Given the description of an element on the screen output the (x, y) to click on. 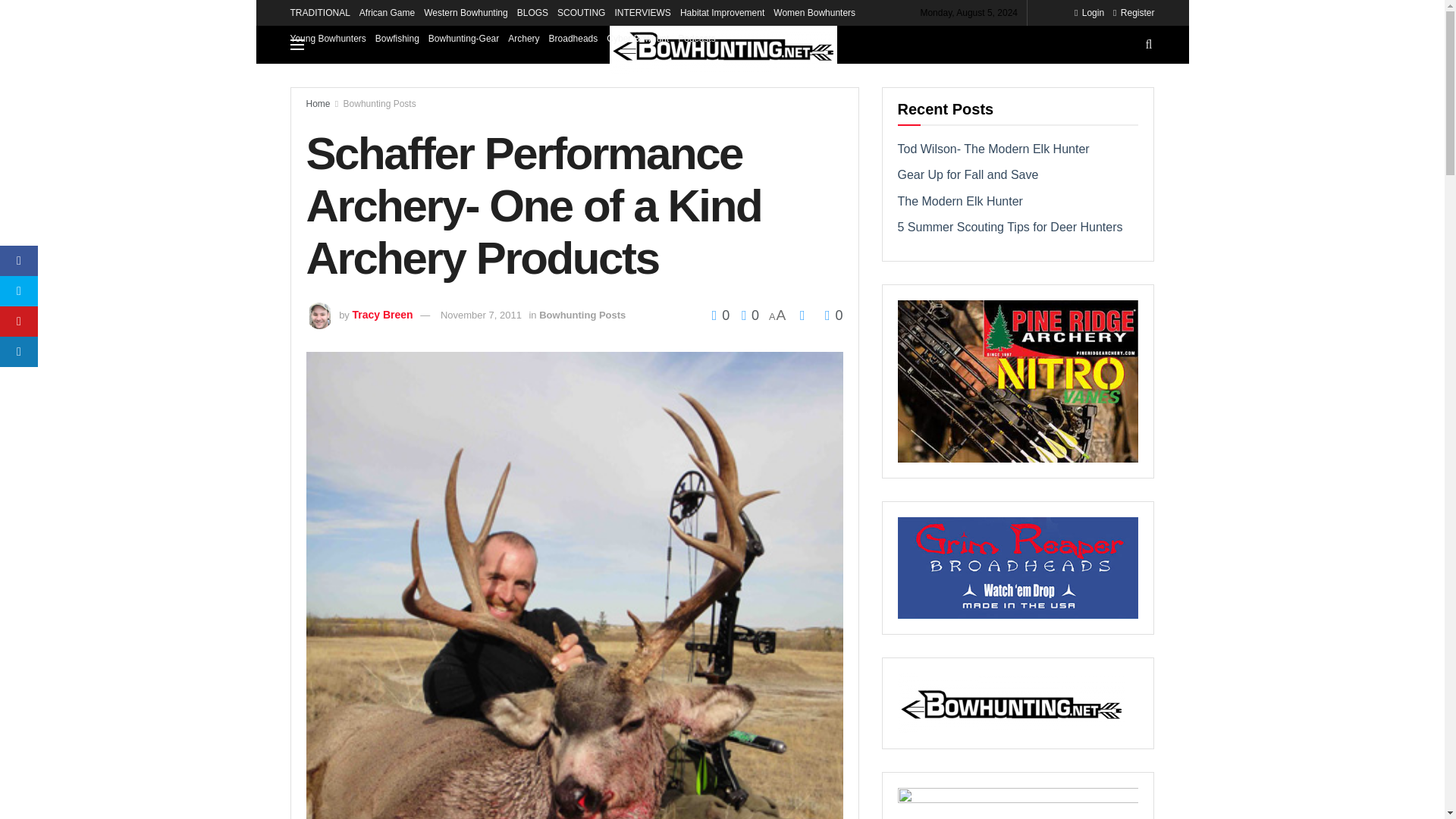
Podcasts (696, 38)
Cyber Bowhunt (637, 38)
Register (1133, 12)
African Game (386, 12)
Bowhunting-Gear (463, 38)
INTERVIEWS (641, 12)
Habitat Improvement (721, 12)
Bowfishing (397, 38)
Archery (523, 38)
Western Bowhunting (465, 12)
Broadheads (573, 38)
SCOUTING (581, 12)
Login (1088, 12)
BLOGS (532, 12)
Young Bowhunters (327, 38)
